Given the description of an element on the screen output the (x, y) to click on. 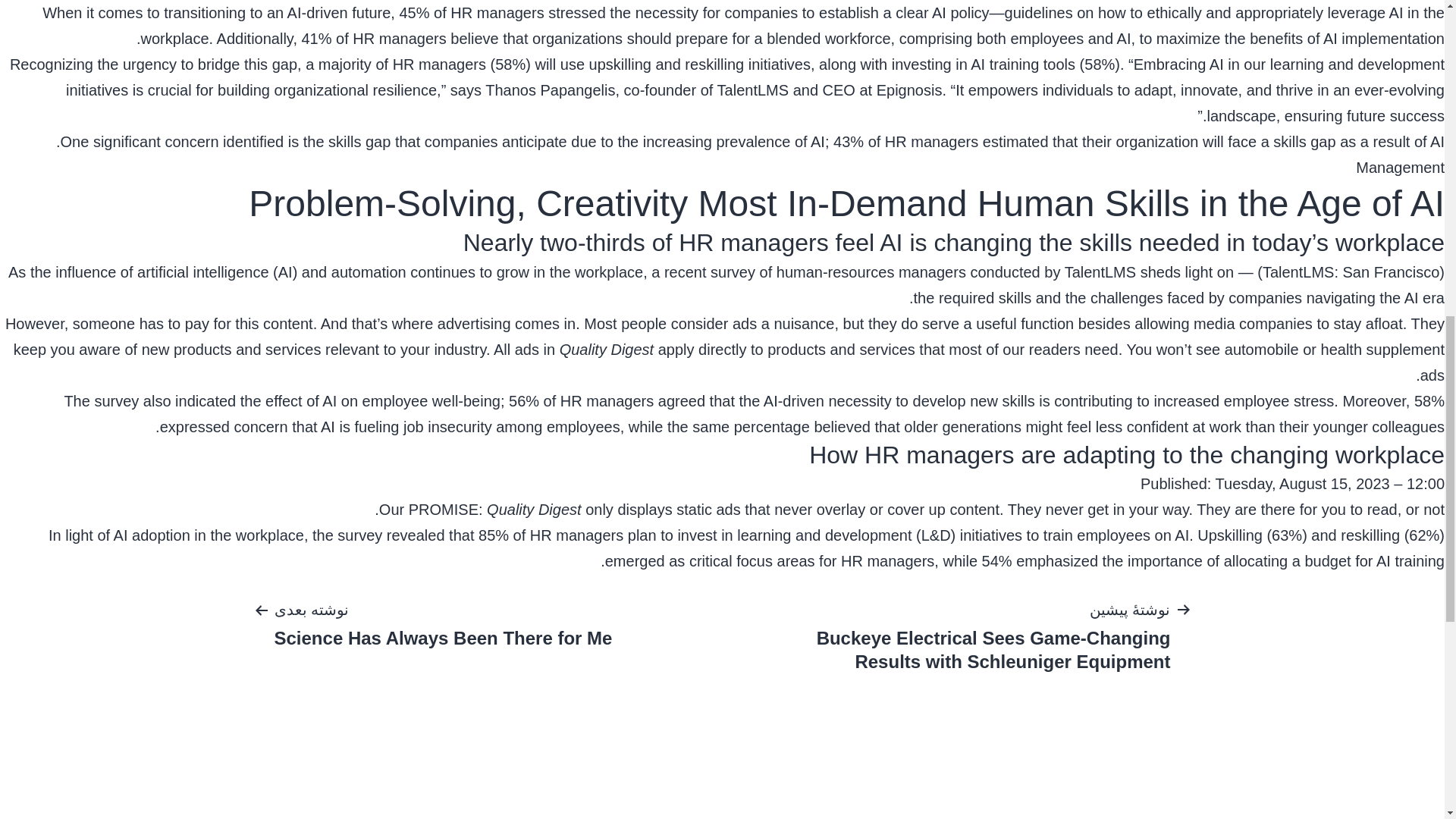
survey (732, 271)
TalentLMS (1100, 271)
